Given the description of an element on the screen output the (x, y) to click on. 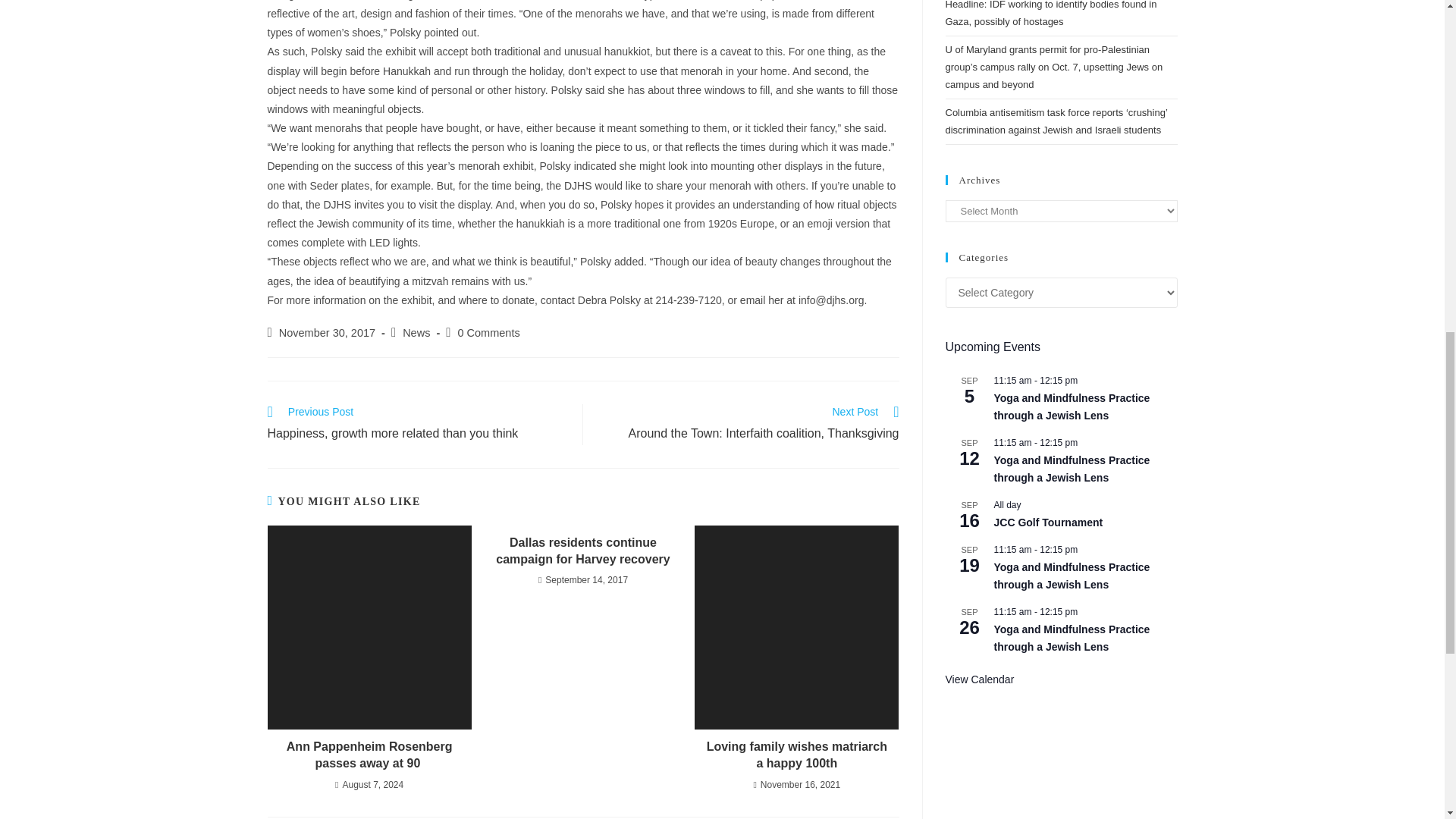
Yoga and Mindfulness Practice through a Jewish Lens (1071, 407)
Yoga and Mindfulness Practice through a Jewish Lens (1071, 469)
View more events. (978, 679)
JCC Golf Tournament (1047, 522)
Yoga and Mindfulness Practice through a Jewish Lens (1071, 576)
Yoga and Mindfulness Practice through a Jewish Lens (1071, 638)
